Given the description of an element on the screen output the (x, y) to click on. 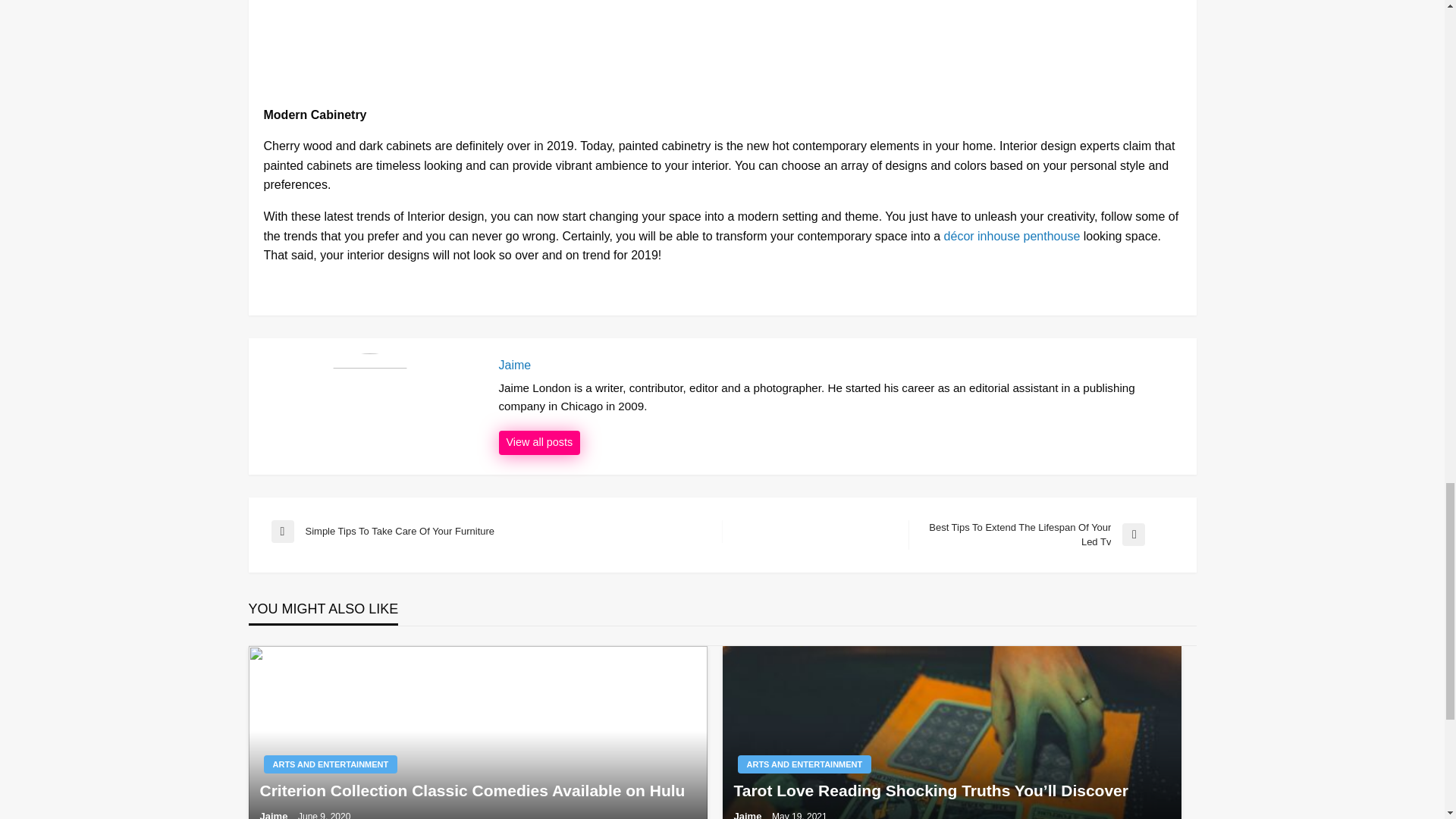
Jaime (839, 365)
Jaime (539, 442)
View all posts (496, 531)
Jaime (539, 442)
